Given the description of an element on the screen output the (x, y) to click on. 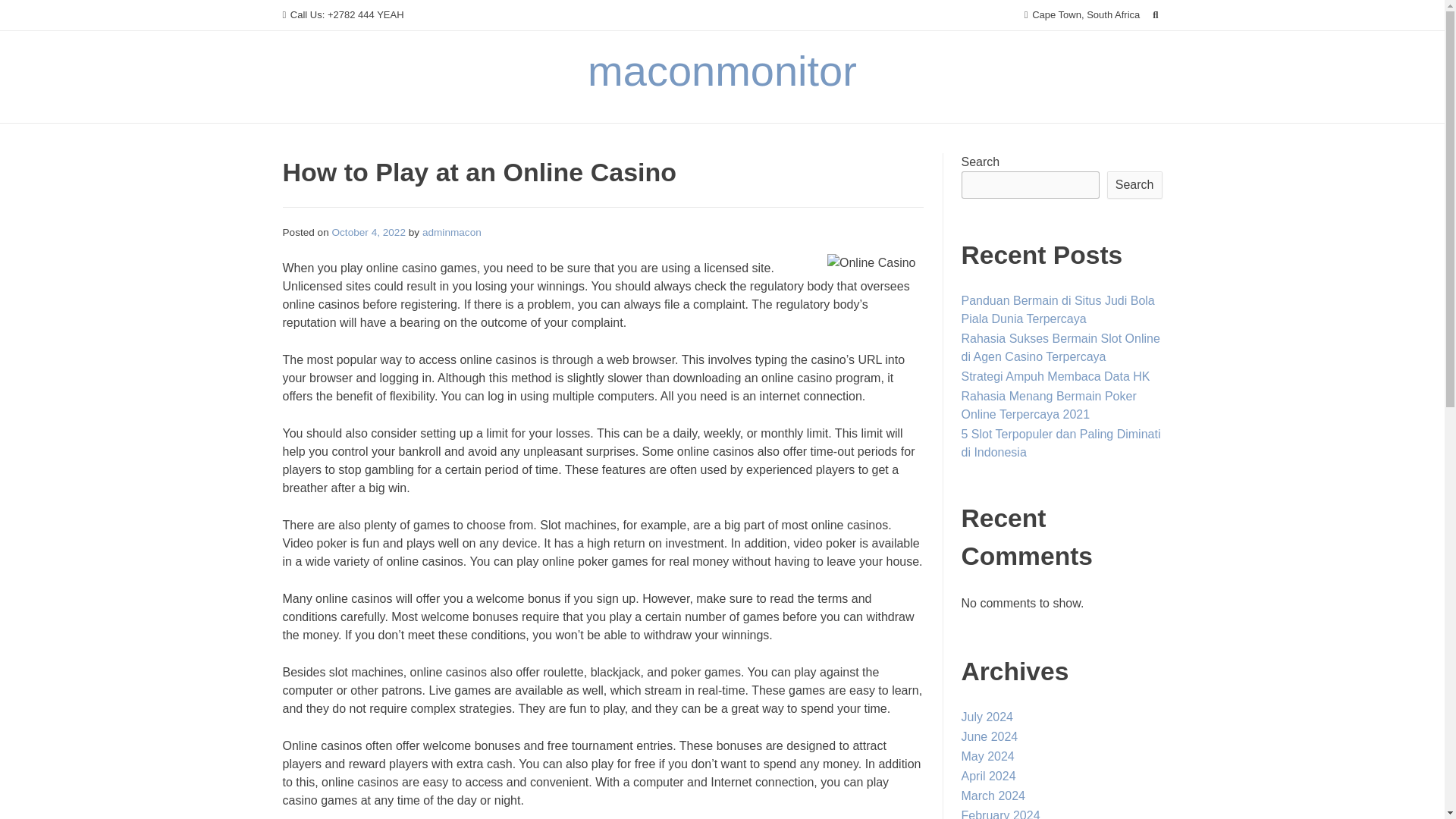
Search (27, 13)
April 2024 (988, 775)
October 4, 2022 (368, 232)
Rahasia Sukses Bermain Slot Online di Agen Casino Terpercaya (1060, 347)
5 Slot Terpopuler dan Paling Diminati di Indonesia (1060, 442)
Panduan Bermain di Situs Judi Bola Piala Dunia Terpercaya (1057, 309)
February 2024 (1000, 814)
Rahasia Menang Bermain Poker Online Terpercaya 2021 (1048, 404)
Strategi Ampuh Membaca Data HK (1055, 376)
May 2024 (987, 756)
June 2024 (988, 736)
Search (1133, 185)
adminmacon (451, 232)
maconmonitor (722, 70)
March 2024 (993, 795)
